Given the description of an element on the screen output the (x, y) to click on. 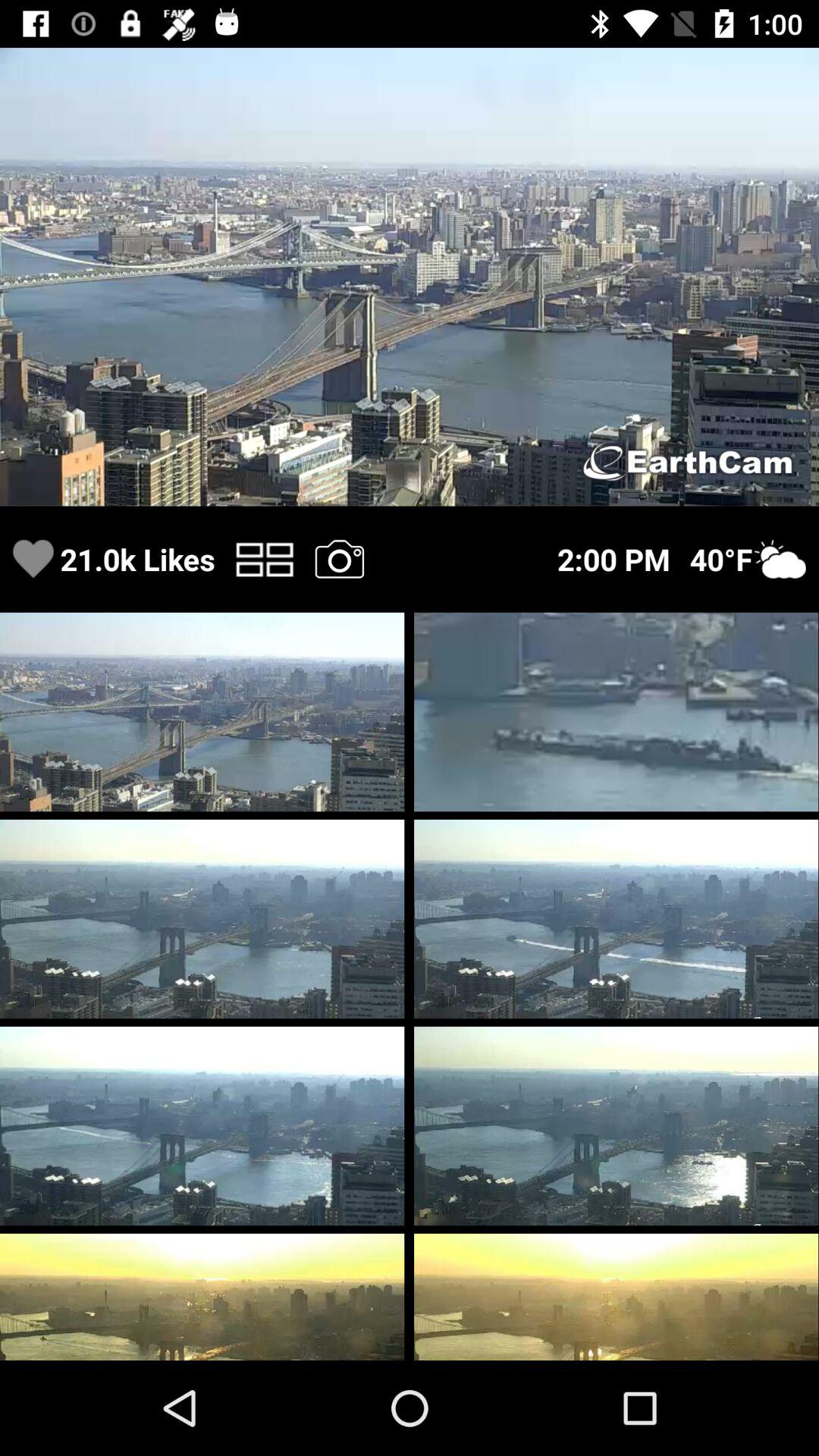
select the image below the 200 pm (616, 711)
select the fifth image of the page (616, 918)
click on the camera symbol at the bottom of the first image (339, 559)
